Given the description of an element on the screen output the (x, y) to click on. 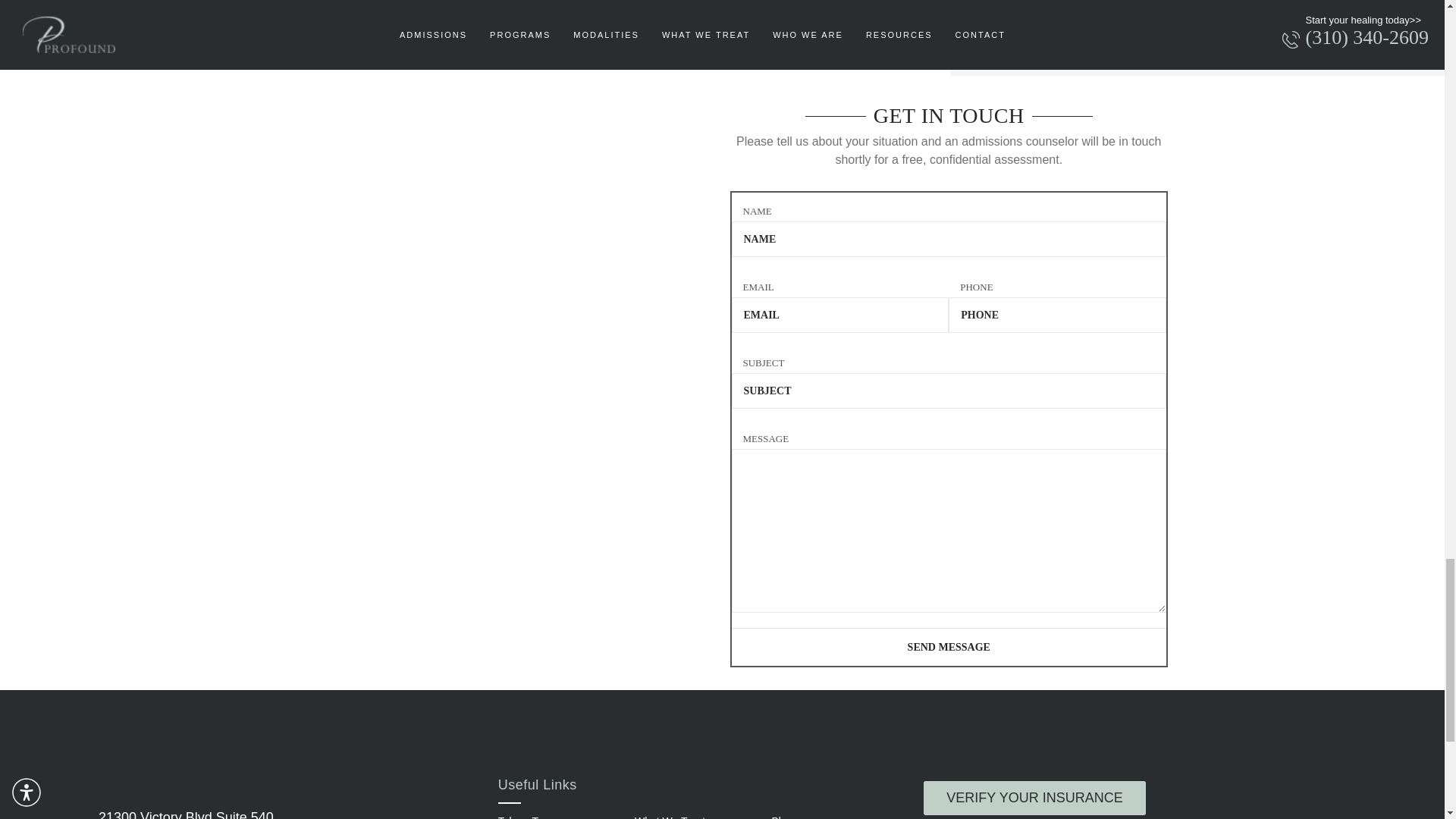
SEND MESSAGE (948, 646)
